Given the description of an element on the screen output the (x, y) to click on. 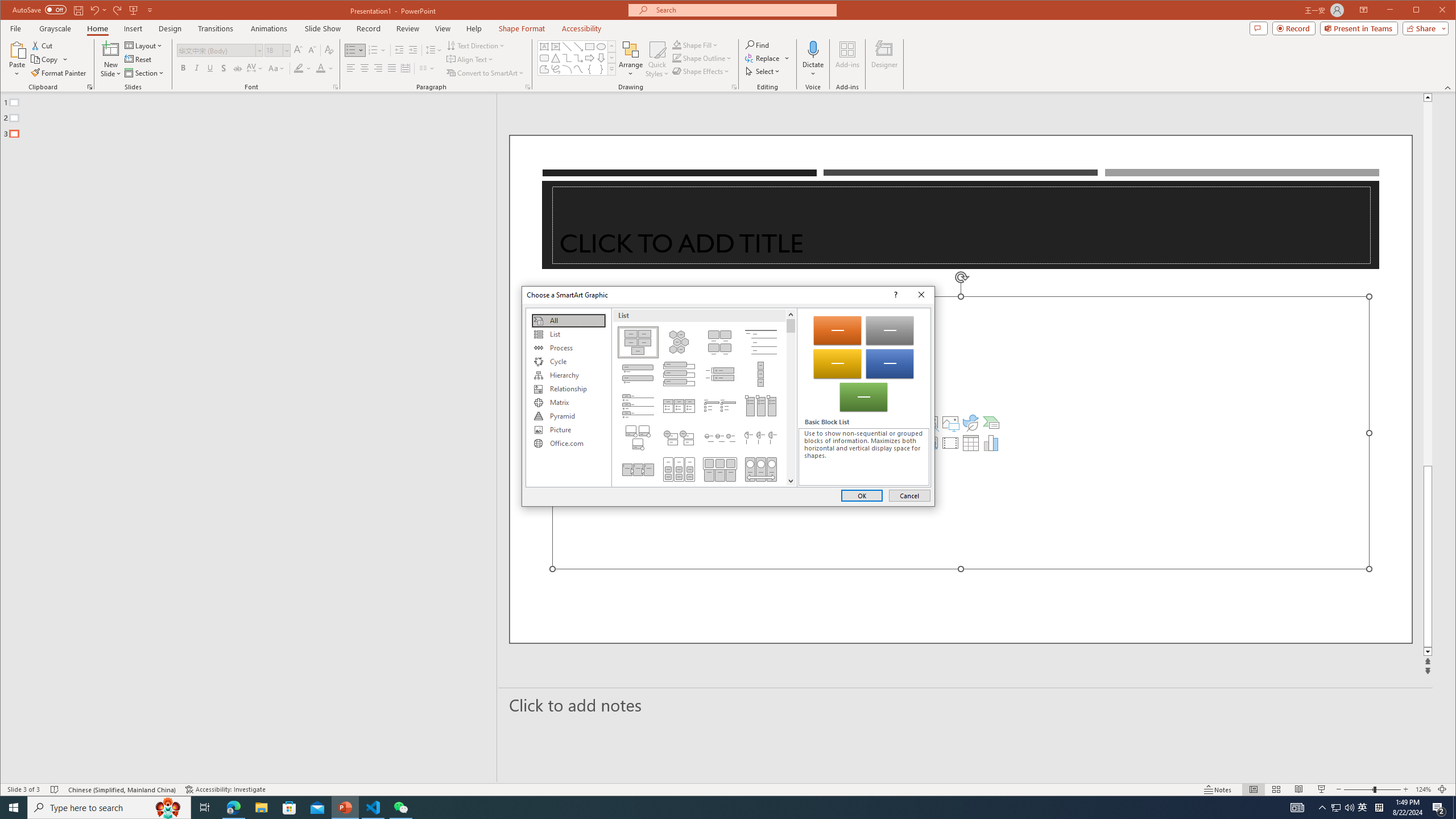
Insert a SmartArt Graphic (991, 422)
Hierarchy (568, 375)
Class: NetUIScrollBar (790, 397)
Action Center, 2 new notifications (1439, 807)
